Given the description of an element on the screen output the (x, y) to click on. 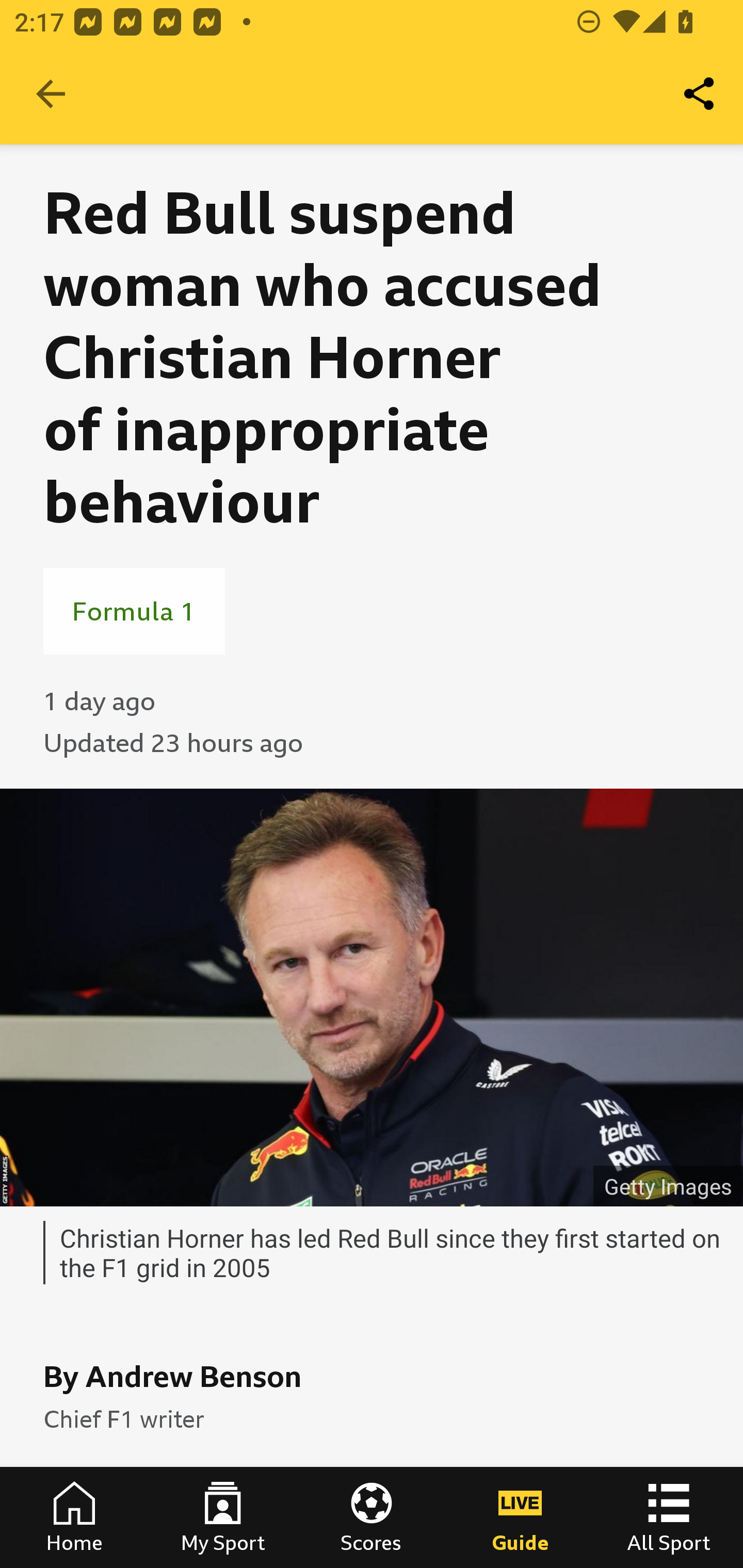
Navigate up (50, 93)
Share (699, 93)
Formula 1 (134, 610)
Home (74, 1517)
My Sport (222, 1517)
Scores (371, 1517)
All Sport (668, 1517)
